Given the description of an element on the screen output the (x, y) to click on. 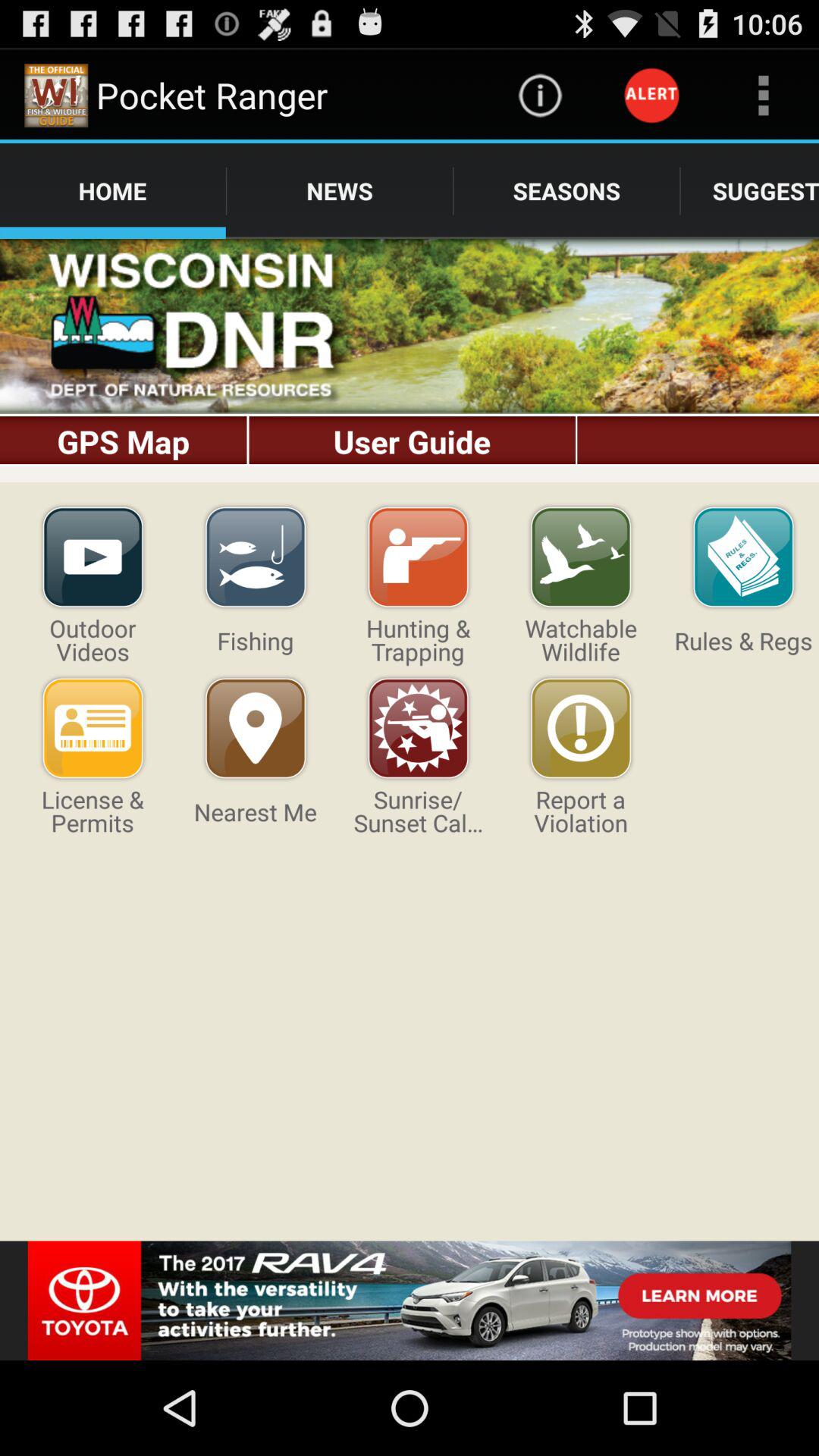
bring up the gps map (409, 360)
